Given the description of an element on the screen output the (x, y) to click on. 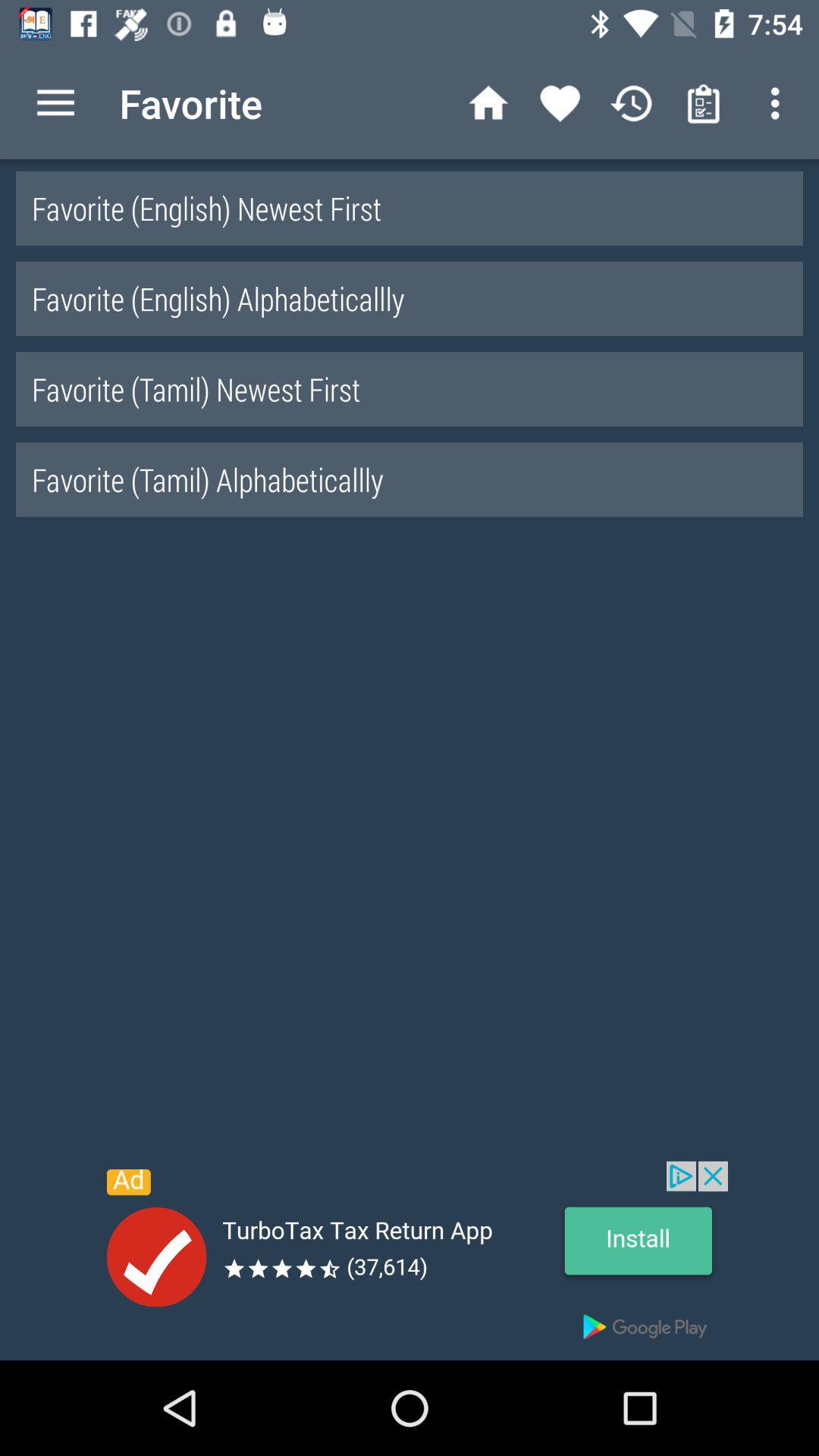
advertisement (409, 1260)
